Given the description of an element on the screen output the (x, y) to click on. 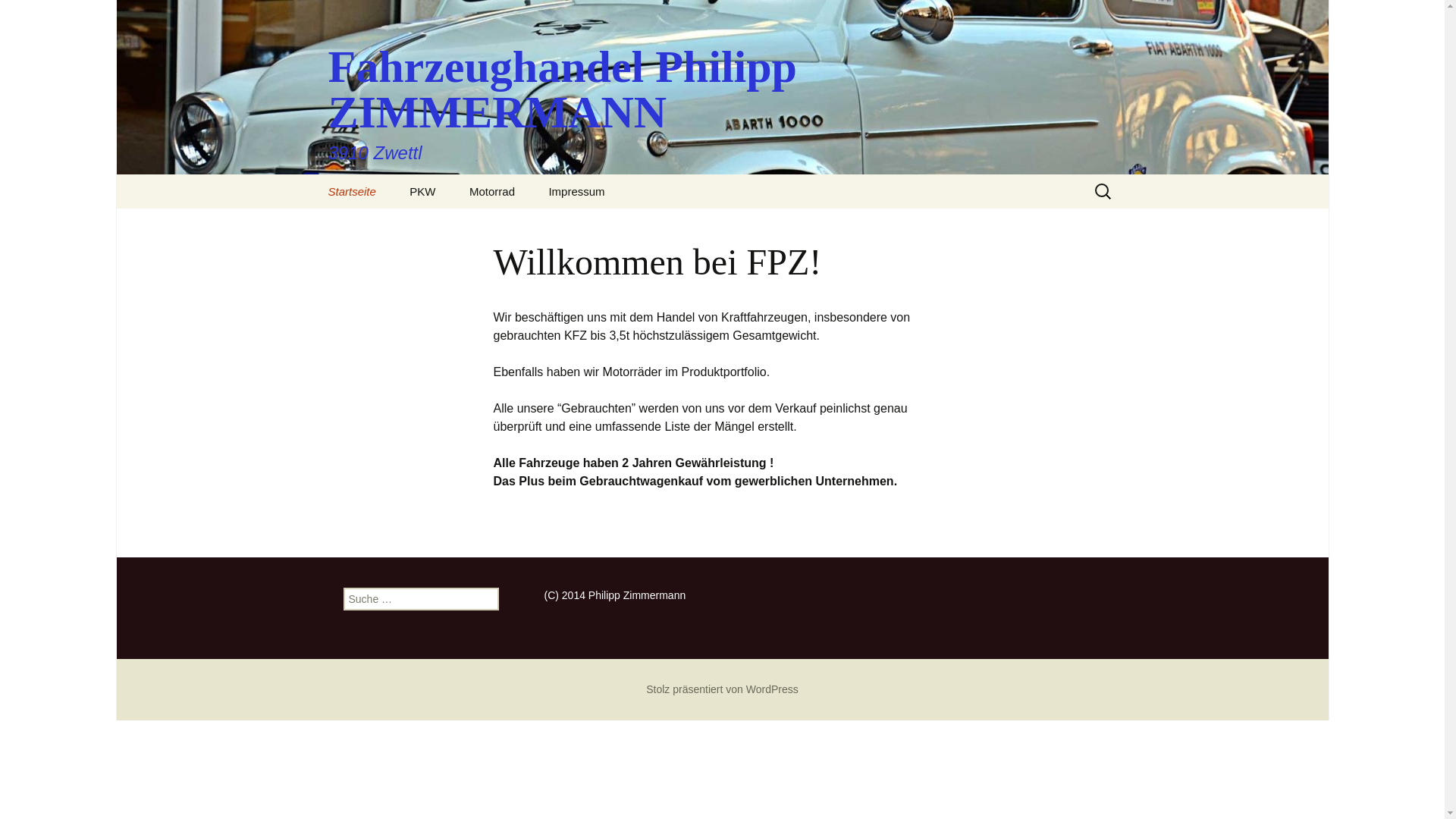
Fahrzeughandel Philipp ZIMMERMANN
3910 Zwettl Element type: text (721, 87)
Impressum Element type: text (576, 191)
Suche Element type: text (18, 15)
Zum Inhalt springen Element type: text (312, 173)
Startseite Element type: text (351, 191)
Motorrad Element type: text (492, 191)
PKW Element type: text (422, 191)
Suche Element type: text (33, 15)
